Given the description of an element on the screen output the (x, y) to click on. 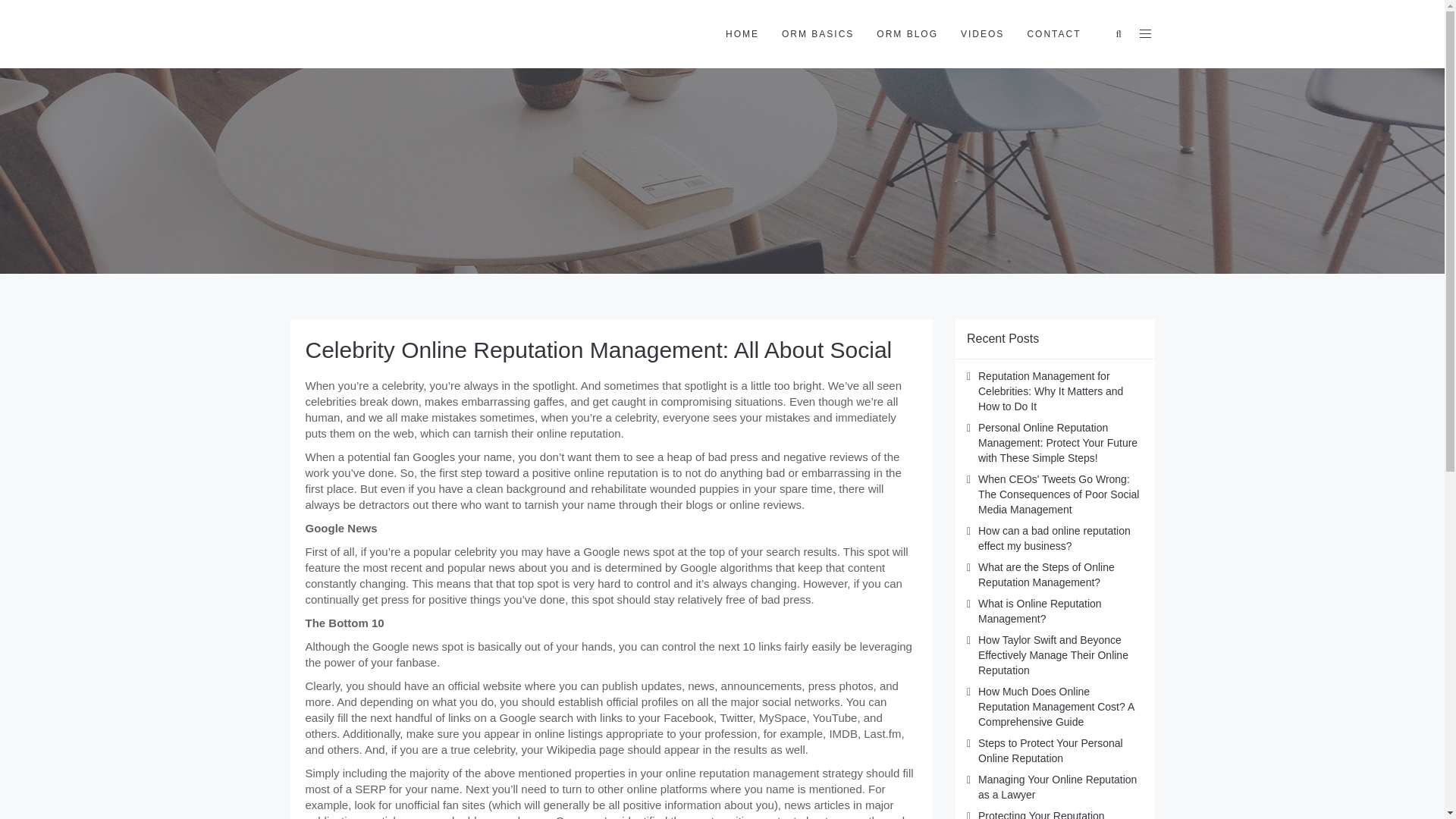
ORM BLOG (906, 33)
Celebrity Online Reputation Management: All About Social (597, 349)
ORM BASICS (817, 33)
VIDEOS (981, 33)
Managing Your Online Reputation as a Lawyer (1057, 786)
How can a bad online reputation effect my business? (1054, 538)
